Given the description of an element on the screen output the (x, y) to click on. 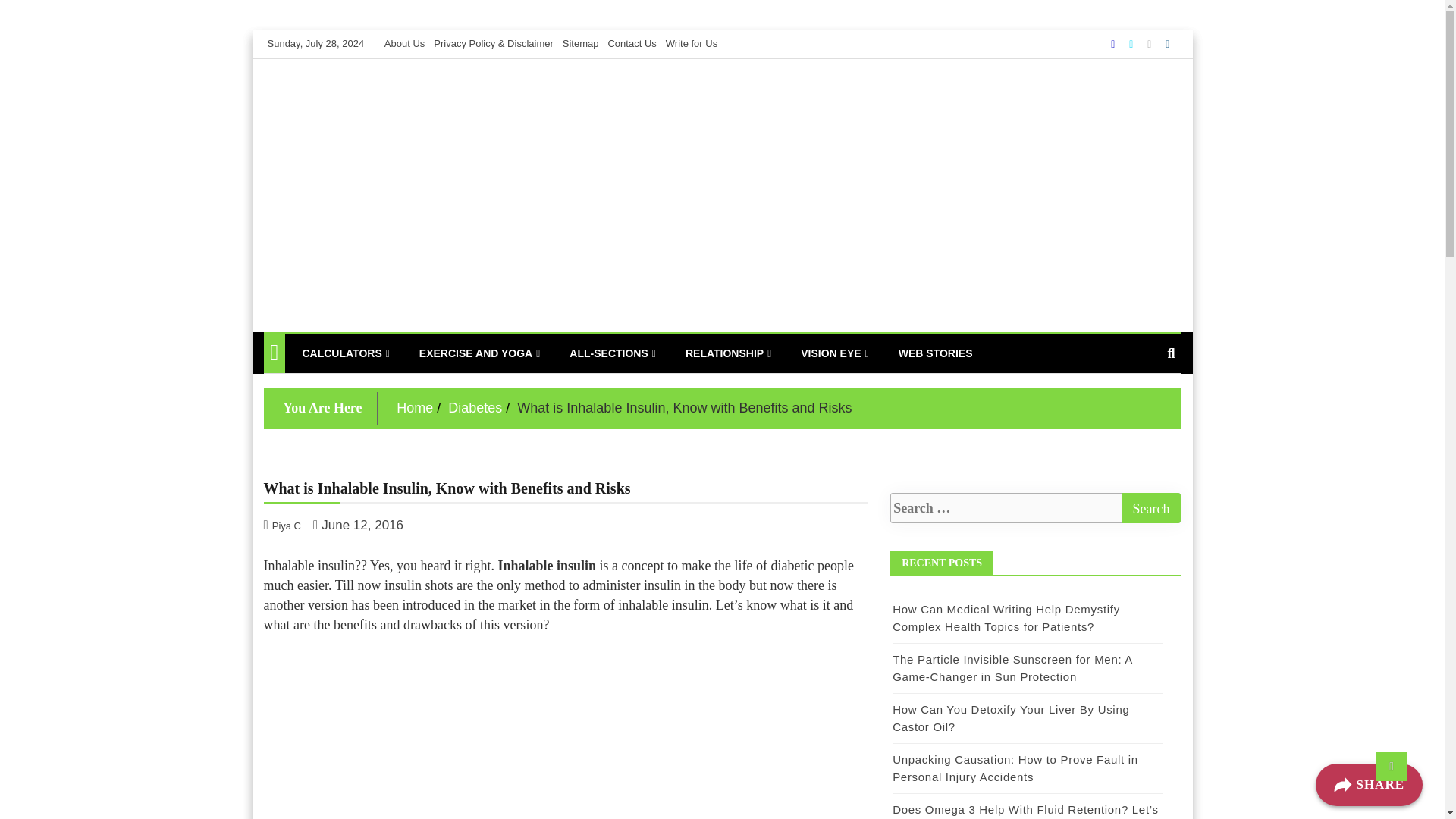
Search (1150, 508)
CALCULATORS (344, 353)
About Us (404, 43)
Contact Us (631, 43)
inhalable insulin (565, 732)
EXERCISE AND YOGA (479, 353)
Search (1150, 508)
Sitemap (580, 43)
Write for Us (691, 43)
